Given the description of an element on the screen output the (x, y) to click on. 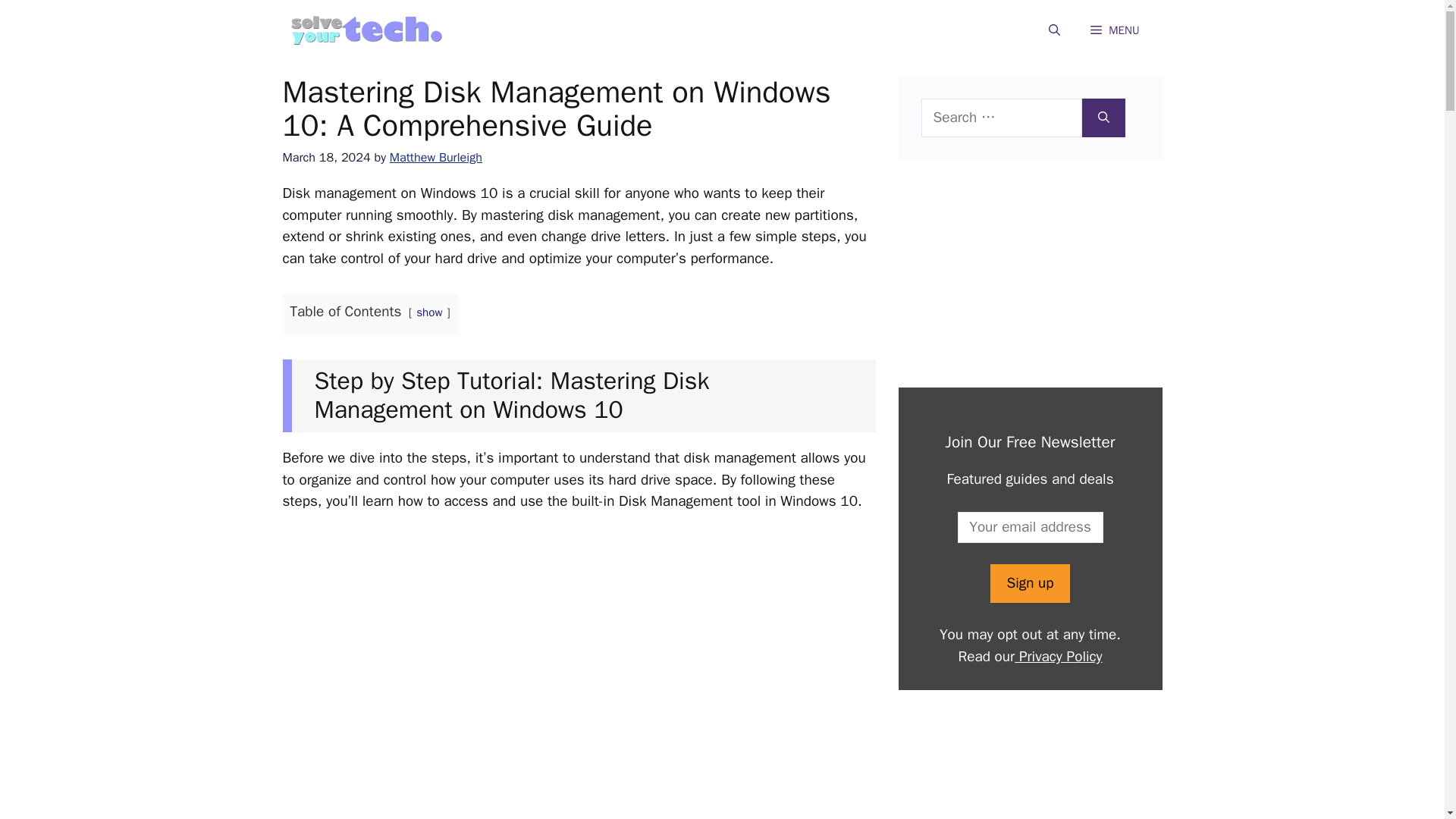
Sign up (1029, 583)
show (429, 312)
Matthew Burleigh (435, 157)
MENU (1114, 30)
